Given the description of an element on the screen output the (x, y) to click on. 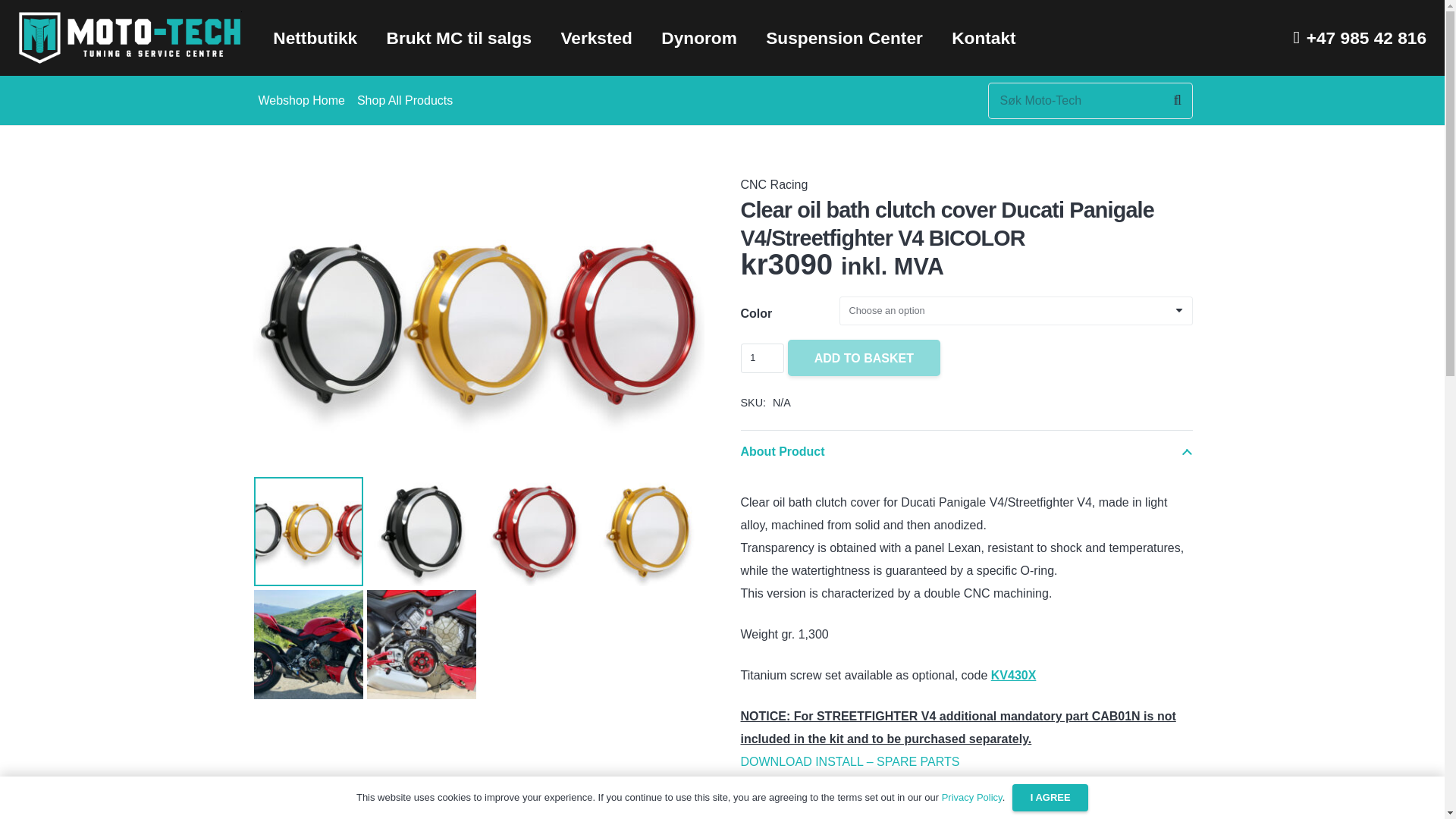
Nettbutikk (315, 38)
Suspension Center (844, 38)
About Product (965, 451)
Attributes (965, 805)
Verksted (596, 38)
CNC Racing (773, 184)
Dynorom (698, 38)
1 (761, 357)
Webshop Home (300, 100)
Shop All Products (404, 100)
Brukt MC til salgs (458, 38)
ADD TO BASKET (863, 357)
Kontakt (983, 38)
KV430X (1013, 675)
